Given the description of an element on the screen output the (x, y) to click on. 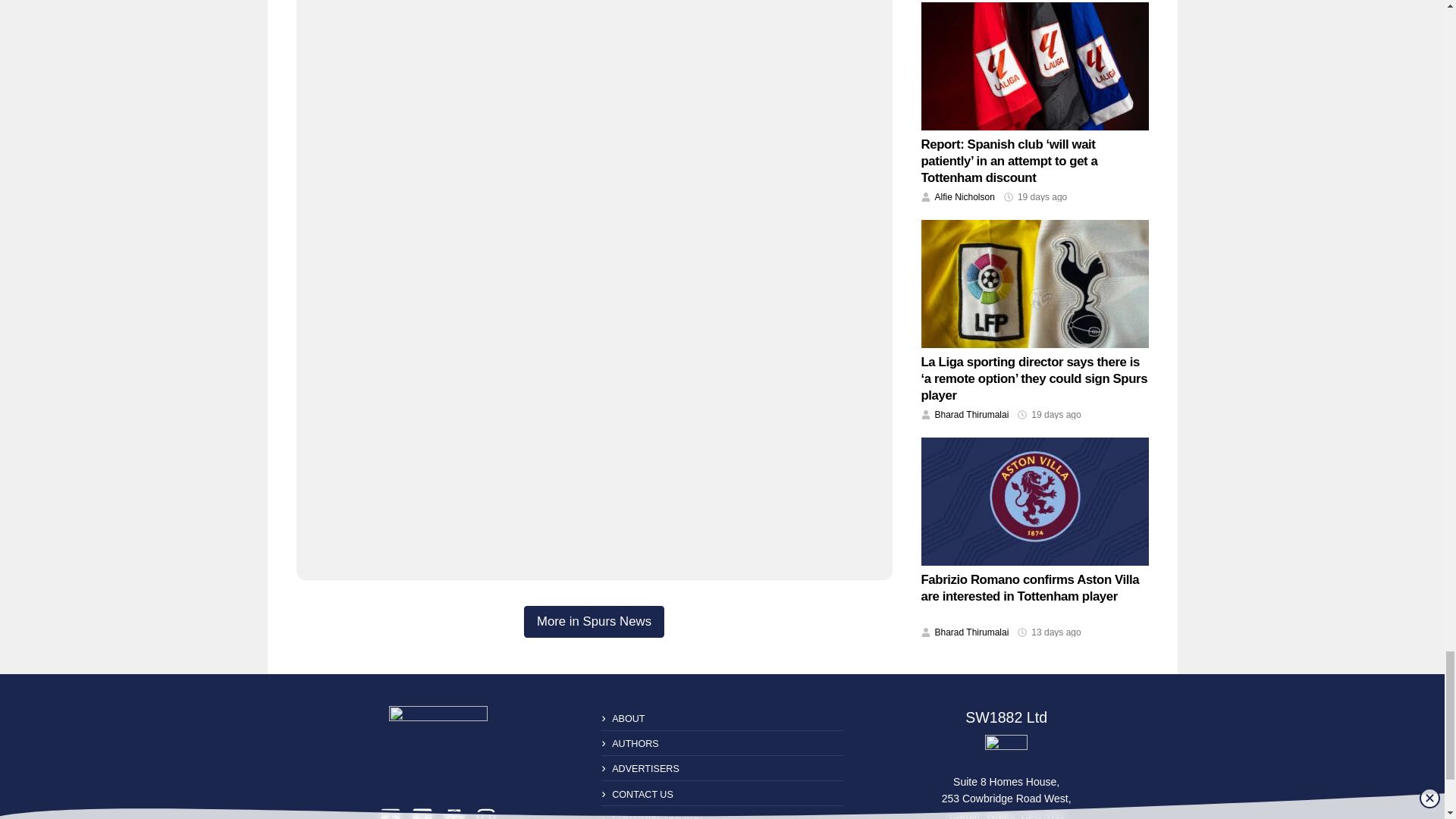
Spurs Web (1005, 751)
The Spurs Web - Tottenham Hotspur Football News on X (422, 812)
The Spurs Web - Tottenham Hotspur Football News on Instagram (486, 812)
The Spurs Web - Tottenham Hotspur Football News on Facebook (390, 812)
More in Spurs News (593, 622)
The Spurs Web - Tottenham Hotspur Football News (438, 743)
